Given the description of an element on the screen output the (x, y) to click on. 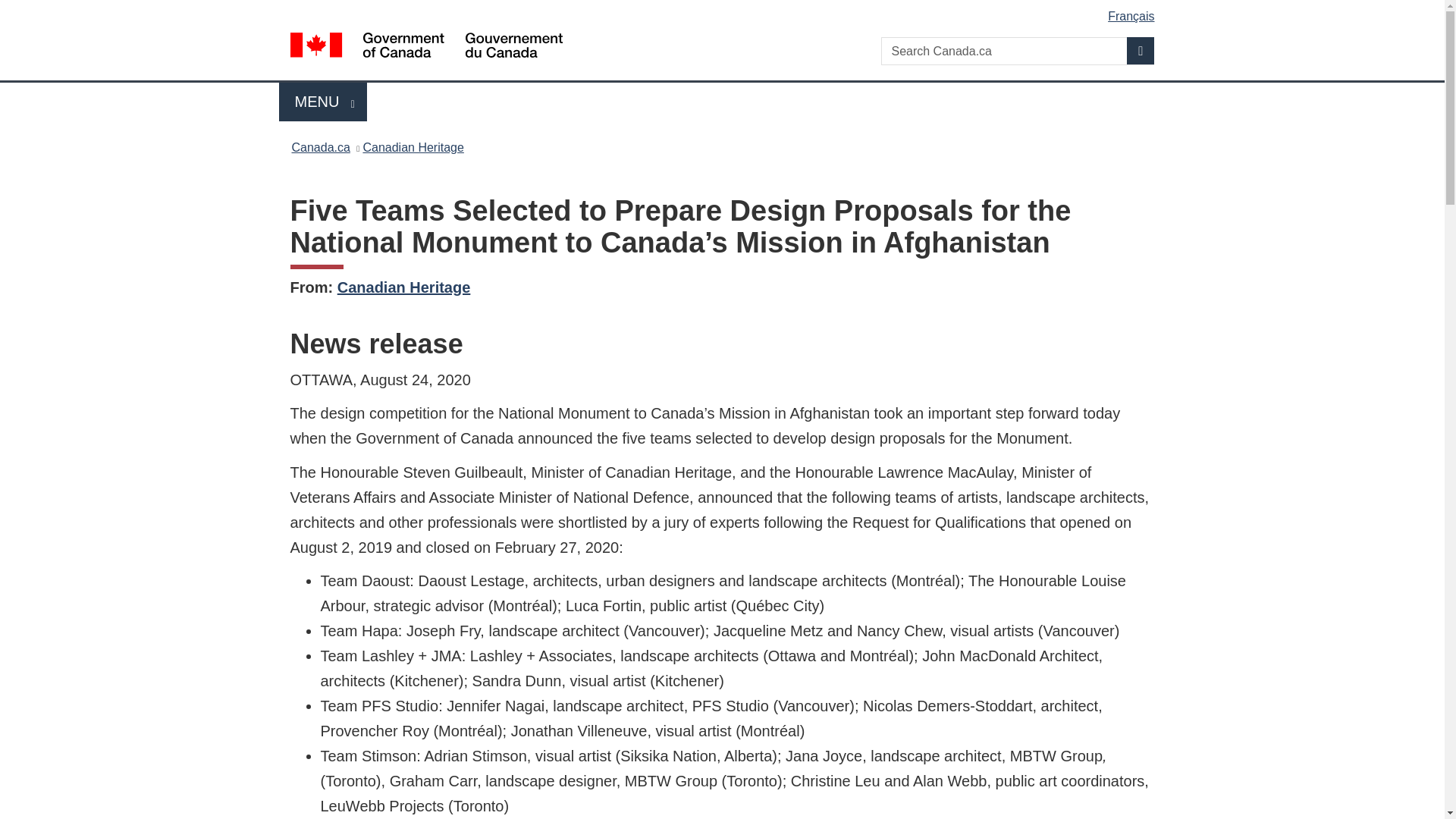
Canadian Heritage (412, 147)
Canadian Heritage (403, 287)
Canada.ca (322, 101)
Search (320, 147)
Skip to main content (1140, 50)
